Given the description of an element on the screen output the (x, y) to click on. 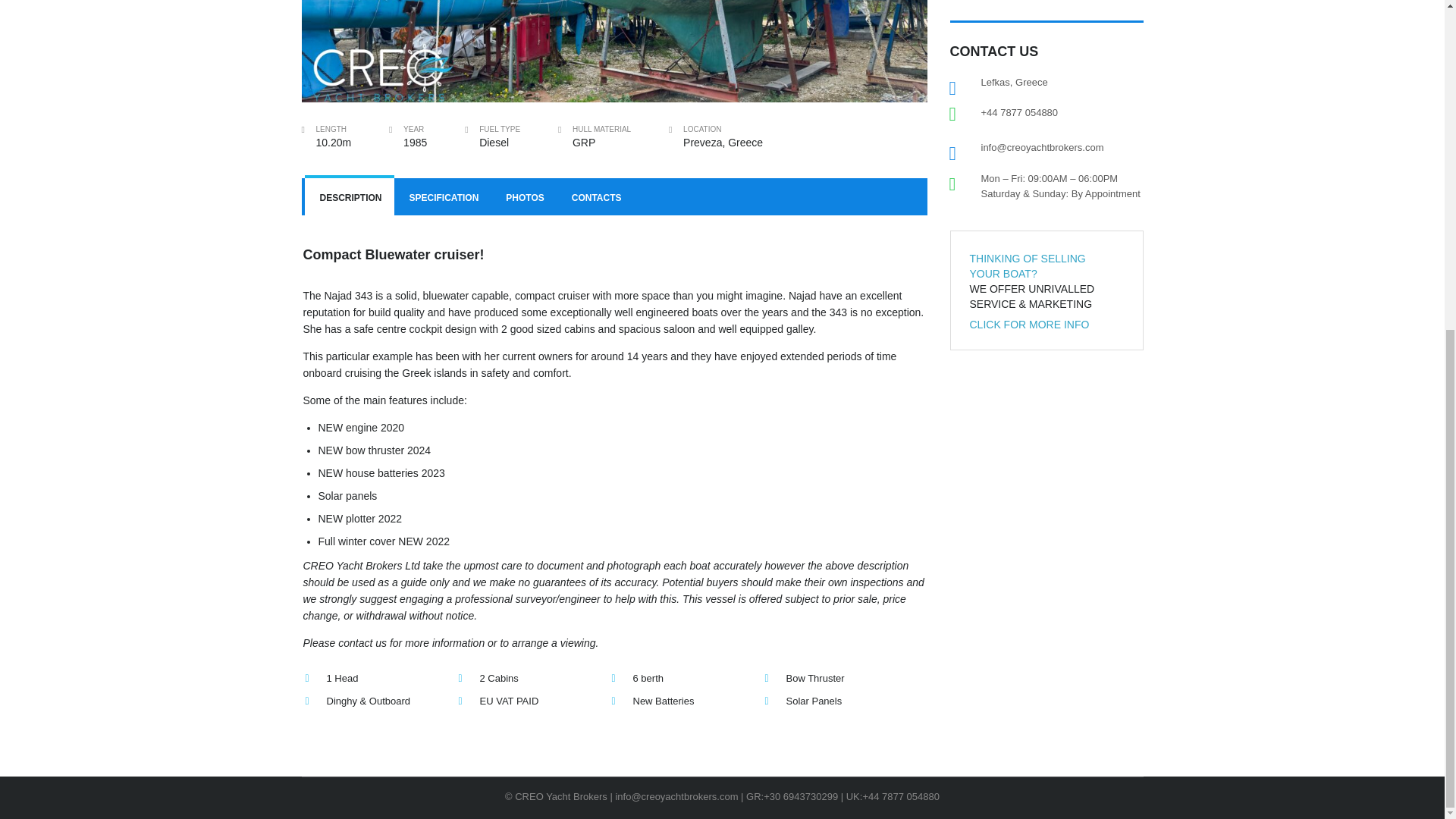
SPECIFICATION (443, 196)
DESCRIPTION (349, 196)
CONTACTS (594, 196)
PHOTOS (523, 196)
